Given the description of an element on the screen output the (x, y) to click on. 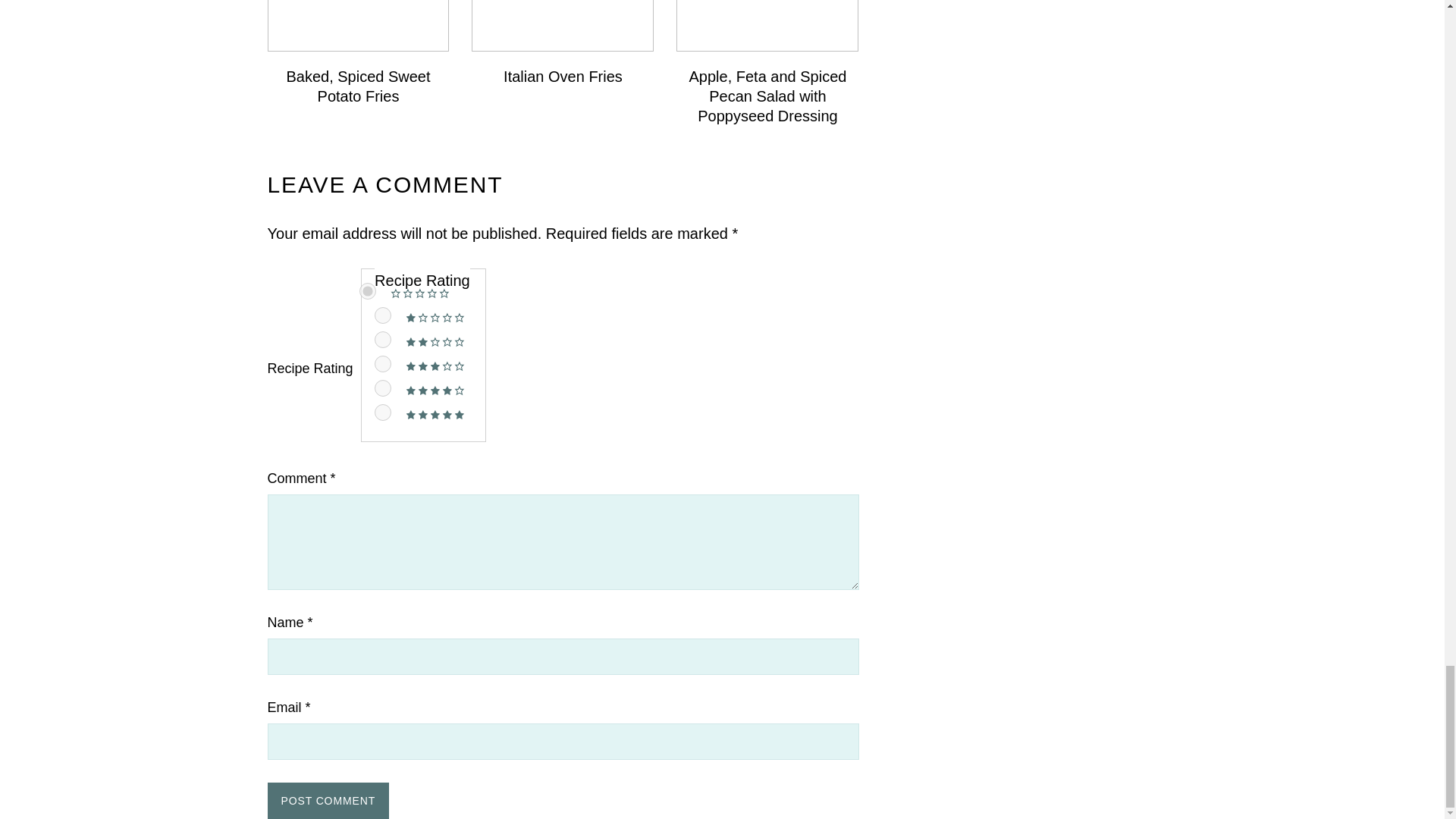
5 (382, 412)
1 (382, 315)
4 (382, 388)
3 (382, 363)
2 (382, 339)
0 (367, 290)
